Given the description of an element on the screen output the (x, y) to click on. 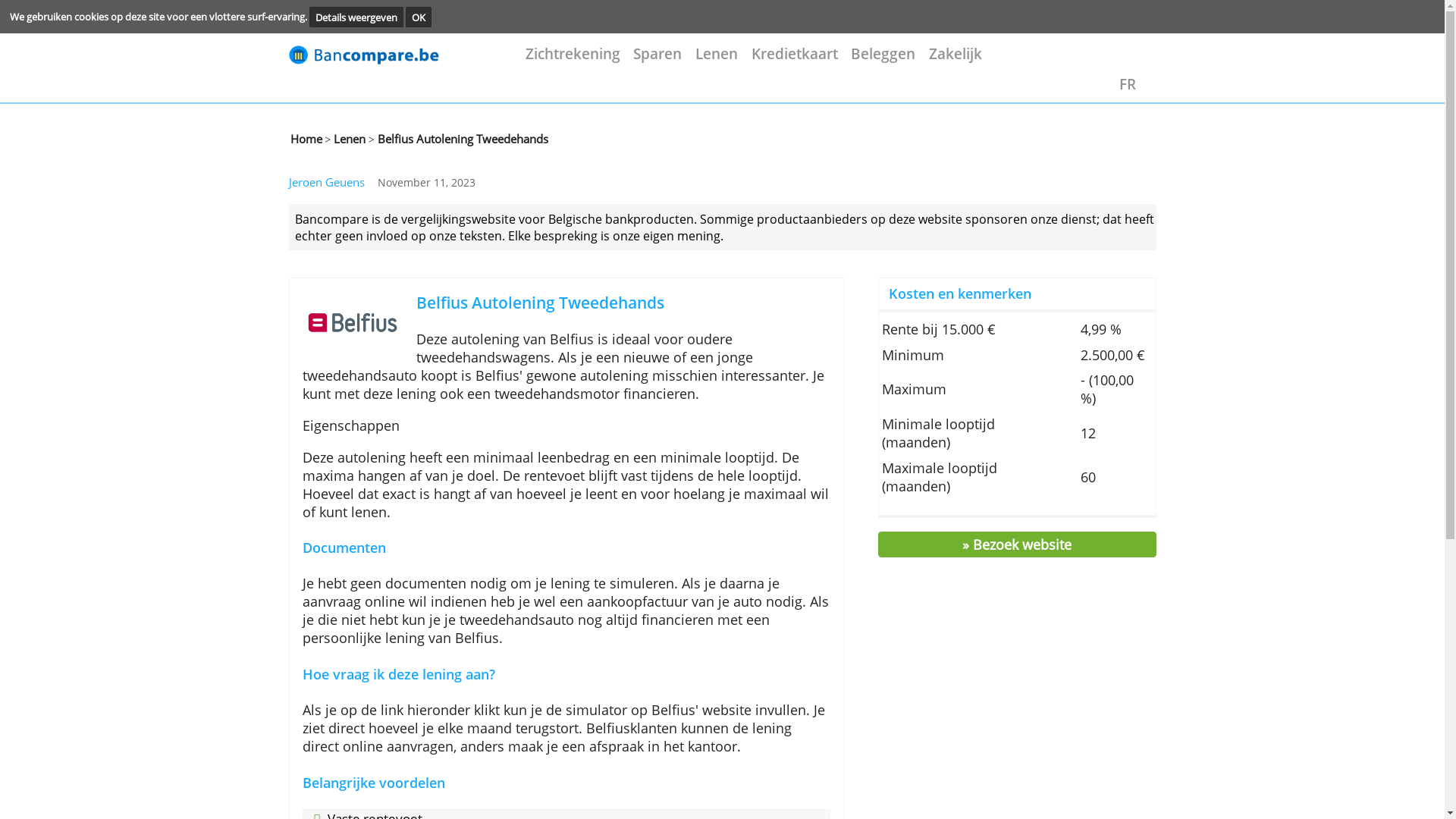
Lenen Element type: text (814, 59)
Jeroen Geuens Element type: text (372, 207)
Zichtrekening Element type: text (650, 59)
FR Element type: text (1278, 94)
Belfius Autolening Tweedehands Element type: text (523, 156)
Sparen Element type: text (747, 59)
Beleggen Element type: text (1003, 59)
Kredietkaart Element type: text (903, 59)
OK Element type: text (475, 19)
Lenen Element type: text (395, 156)
Details weergeven Element type: text (404, 19)
Home Element type: text (347, 156)
Zakelijk Element type: text (1085, 59)
Belfius Autolening Tweedehands Element type: text (644, 365)
